Given the description of an element on the screen output the (x, y) to click on. 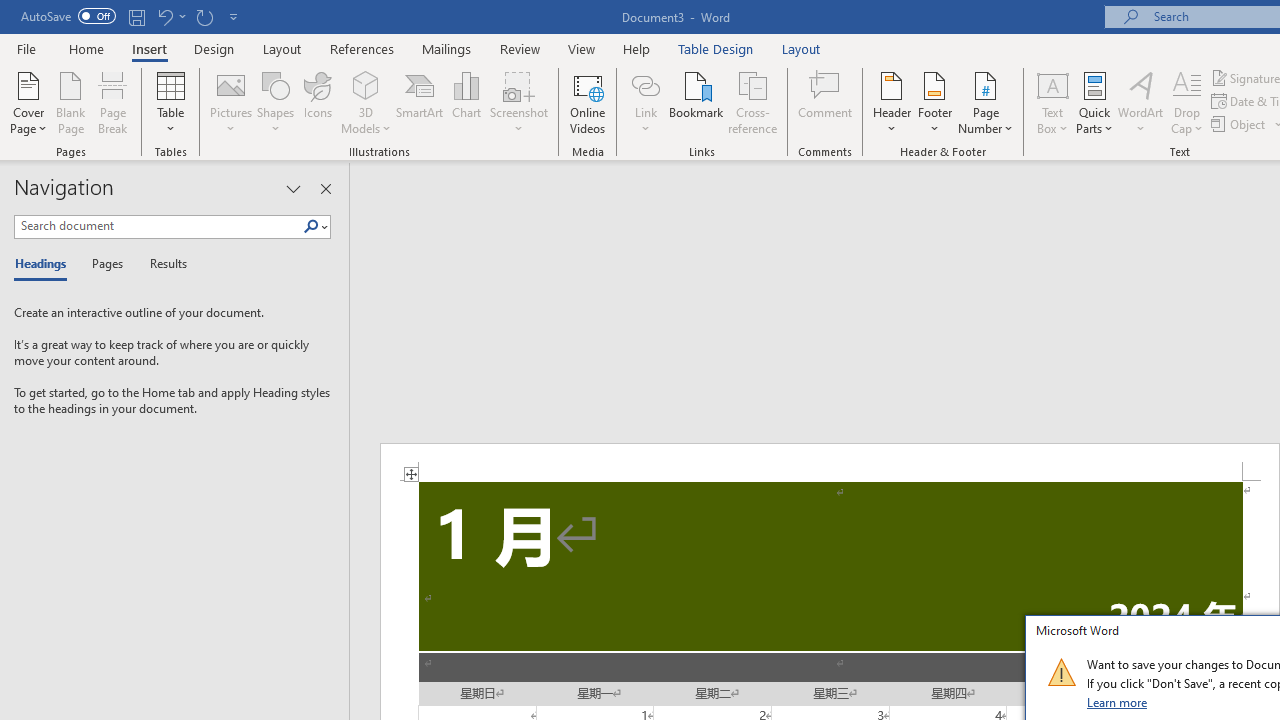
Results (161, 264)
AutoSave (68, 16)
Class: NetUIImage (1061, 671)
3D Models (366, 102)
Design (214, 48)
Repeat Doc Close (204, 15)
Table Design (715, 48)
Page Number (986, 102)
Task Pane Options (293, 188)
Online Videos... (588, 102)
Icons (317, 102)
Review (520, 48)
Header (891, 102)
Bookmark... (695, 102)
